Given the description of an element on the screen output the (x, y) to click on. 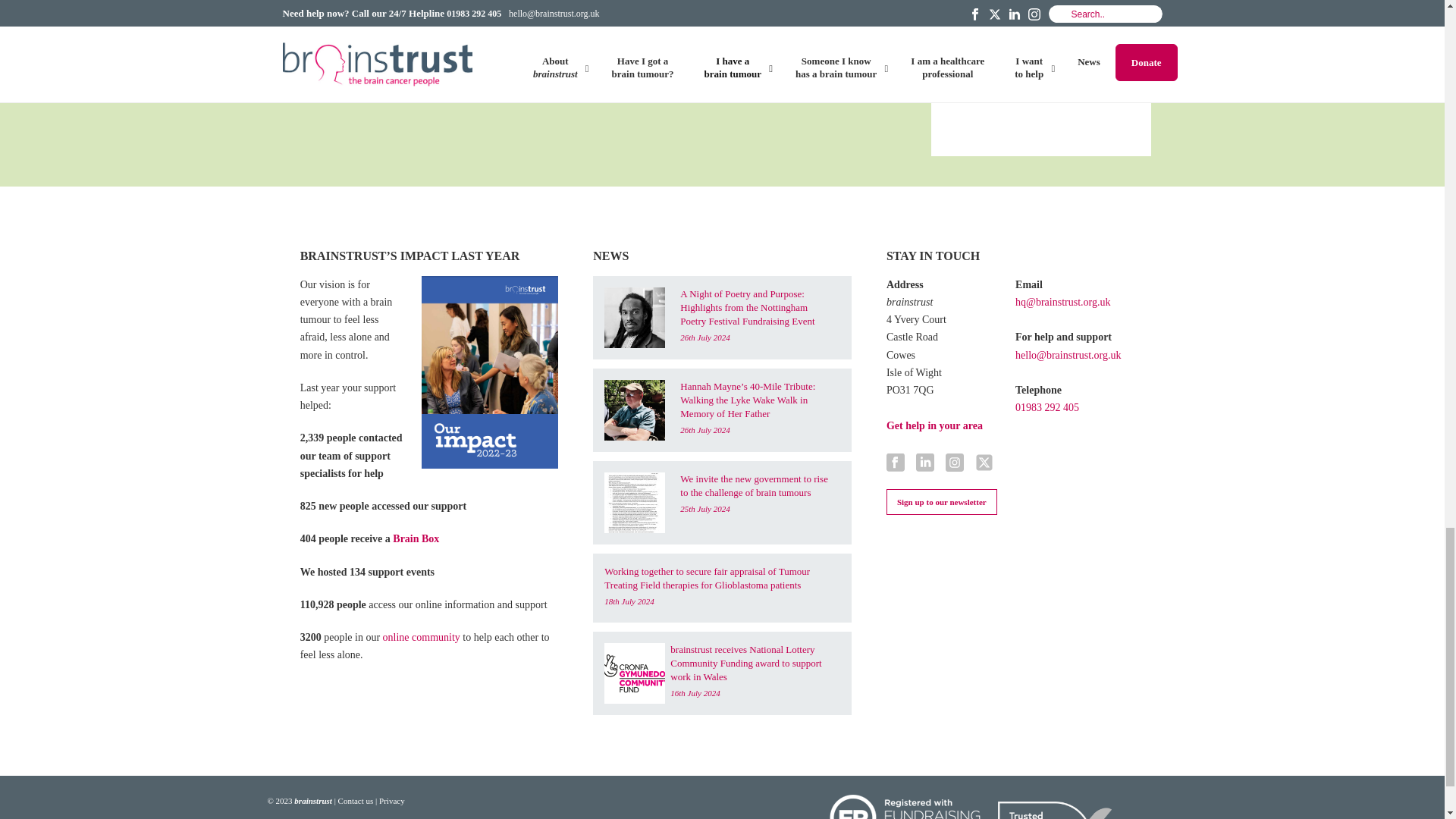
Follow Us on instagram (953, 463)
